Given the description of an element on the screen output the (x, y) to click on. 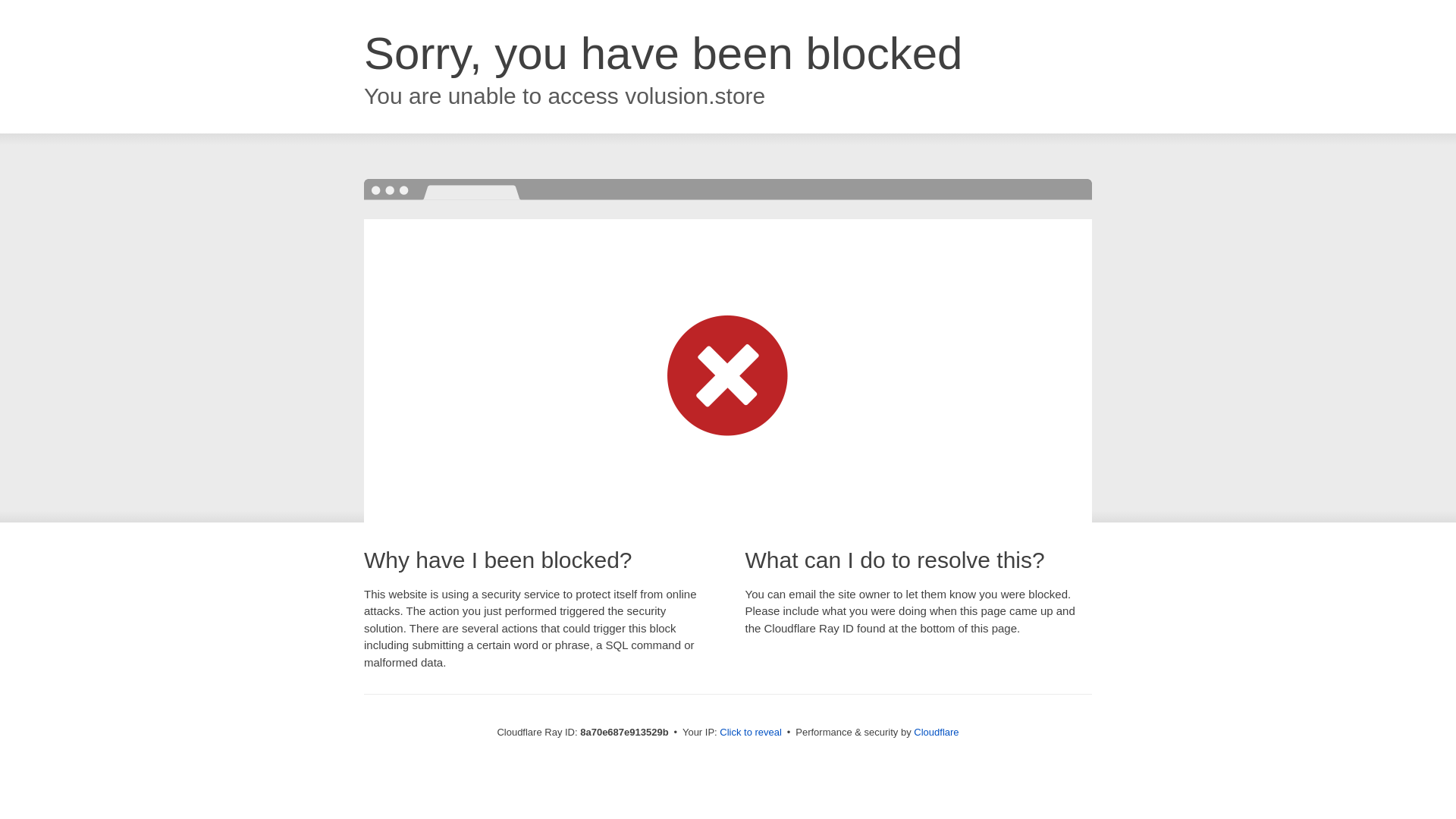
Click to reveal (750, 732)
Cloudflare (936, 731)
